Given the description of an element on the screen output the (x, y) to click on. 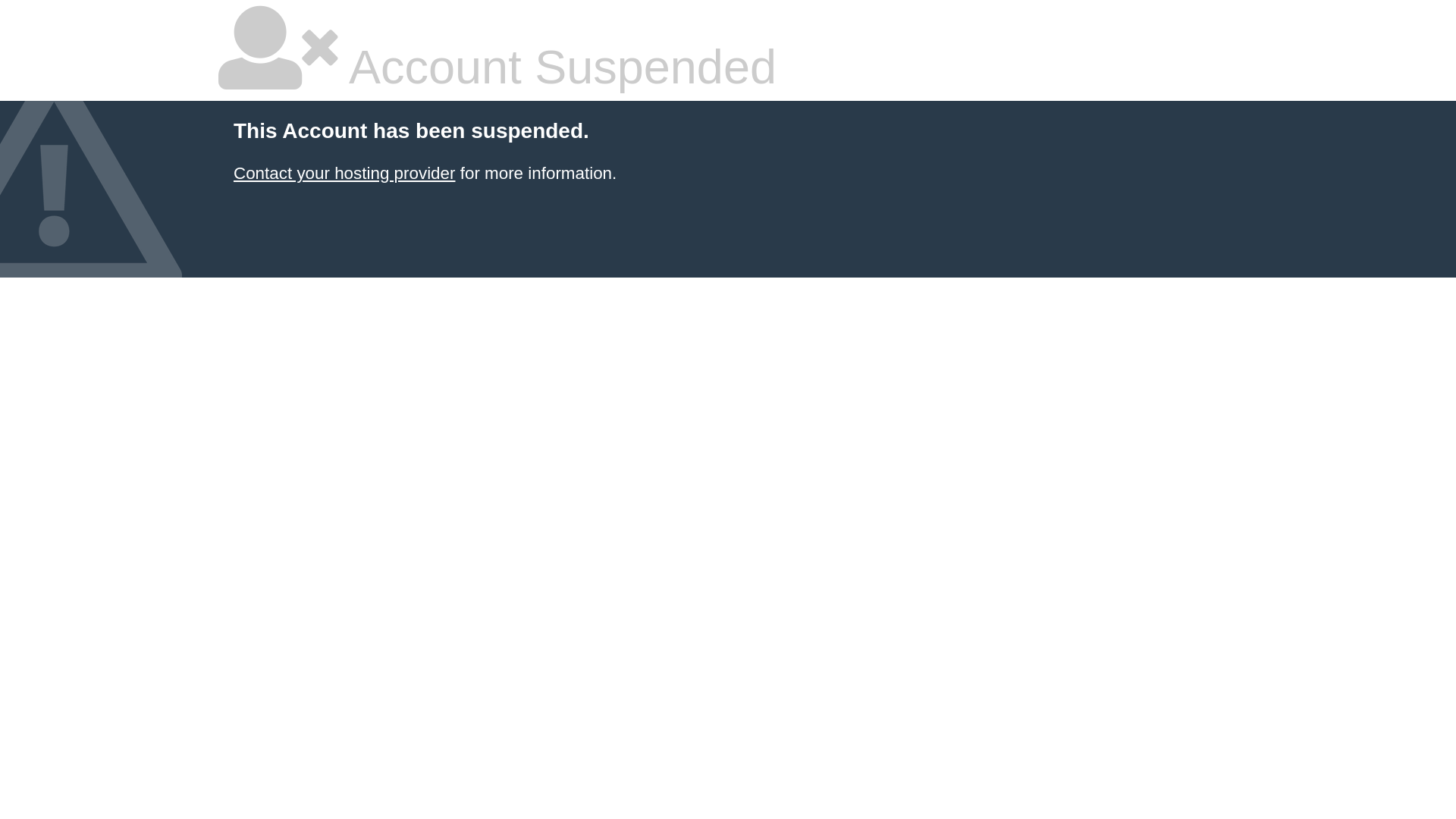
Contact your hosting provider Element type: text (344, 172)
